Given the description of an element on the screen output the (x, y) to click on. 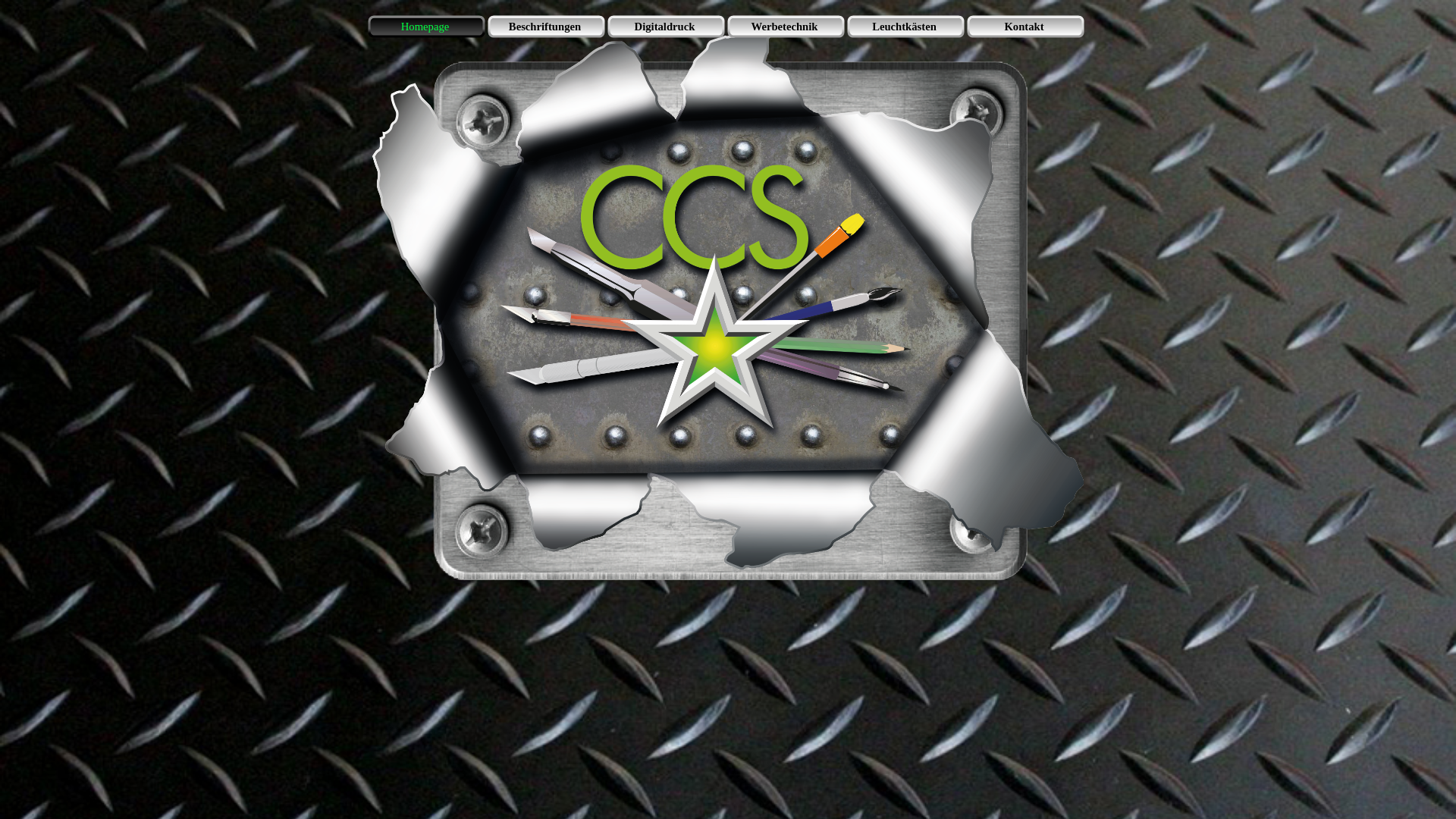
Werbetechnik Element type: text (786, 26)
Homepage Element type: text (426, 26)
Kontakt Element type: text (1025, 26)
